Given the description of an element on the screen output the (x, y) to click on. 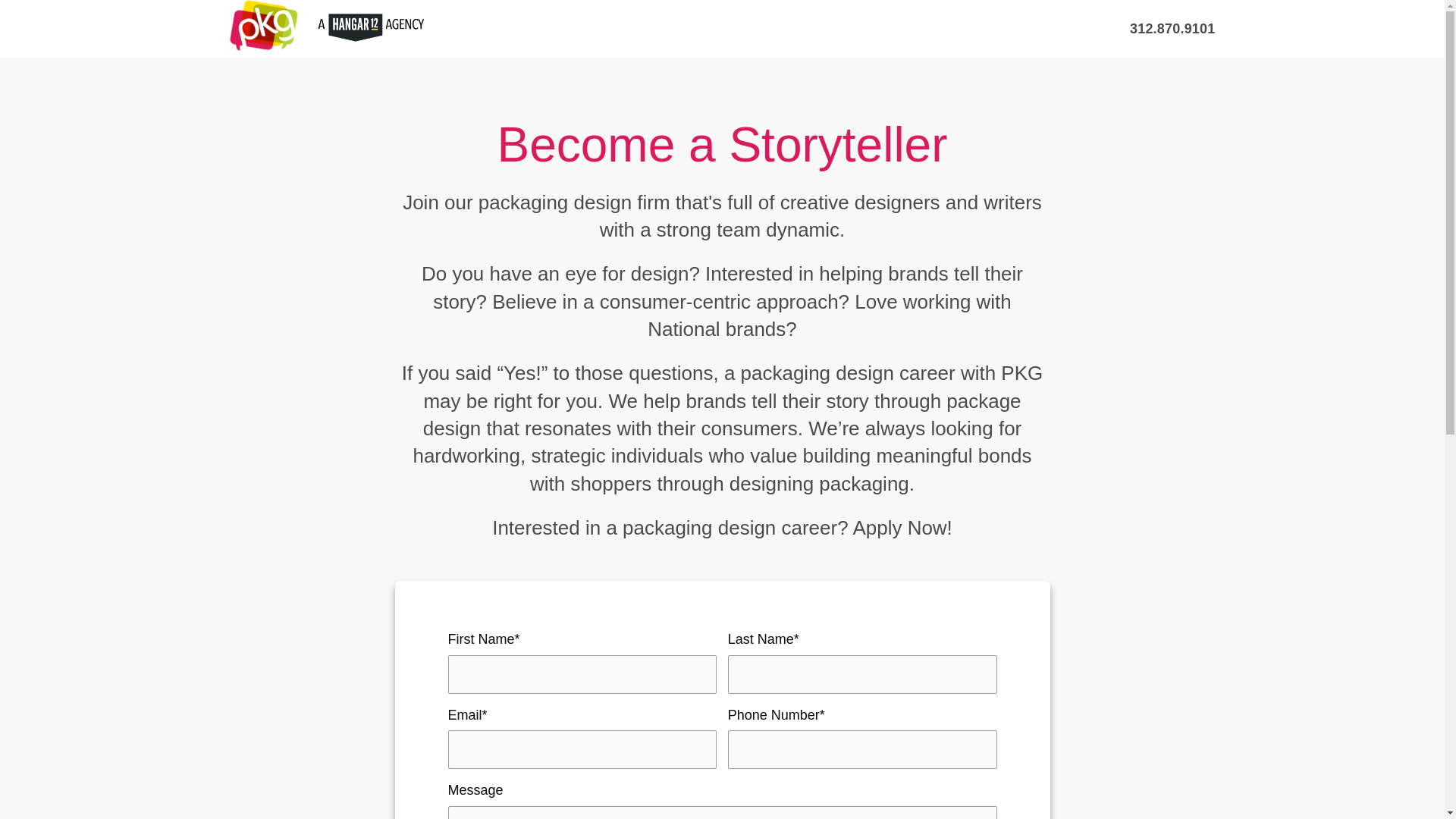
312.870.9101 (1172, 28)
